Given the description of an element on the screen output the (x, y) to click on. 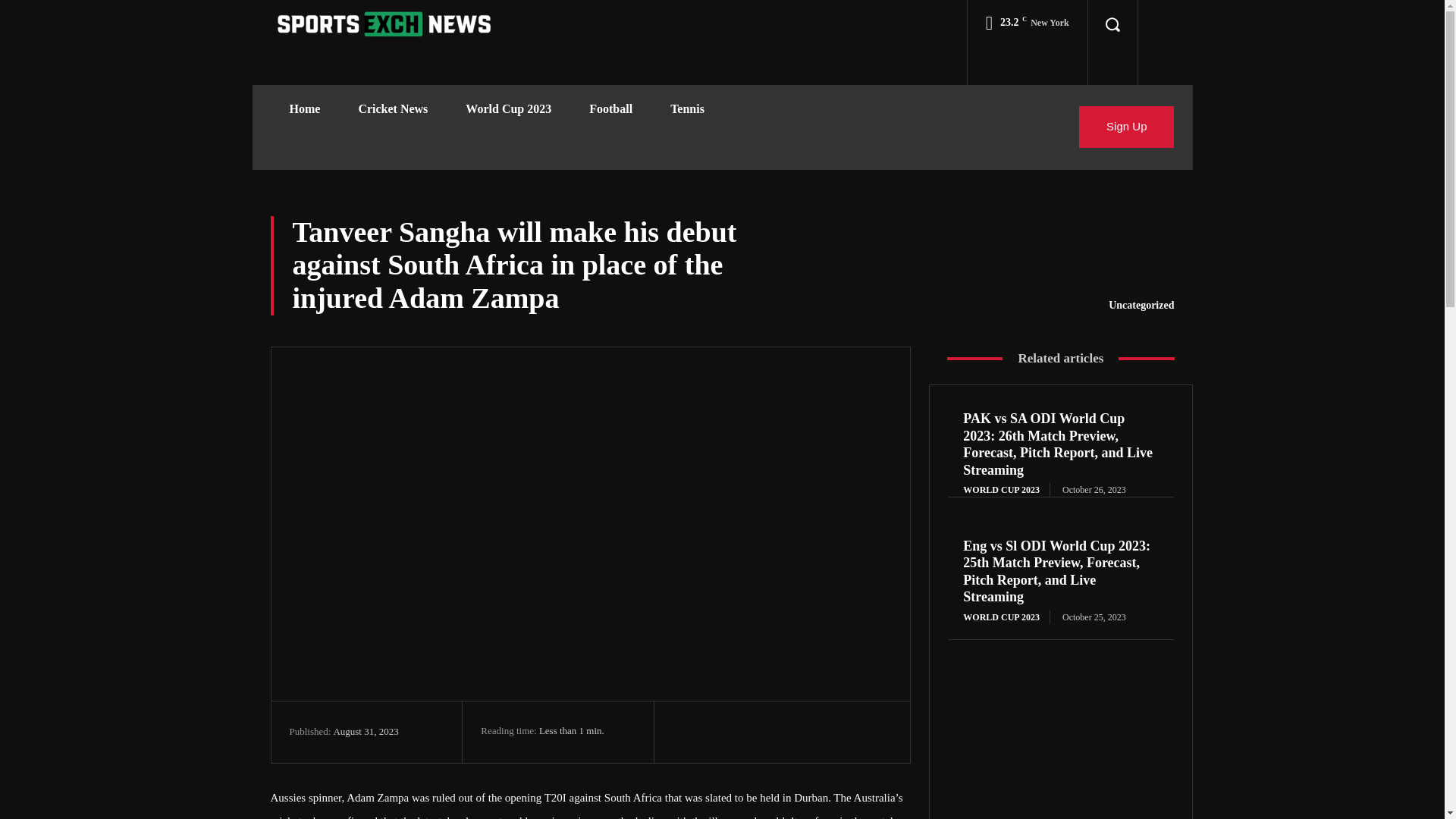
Sign Up (1125, 127)
Football (610, 109)
Cricket News (392, 109)
Sign Up (1125, 127)
World Cup 2023 (508, 109)
Home (304, 109)
Uncategorized (1140, 305)
Tennis (686, 109)
